Given the description of an element on the screen output the (x, y) to click on. 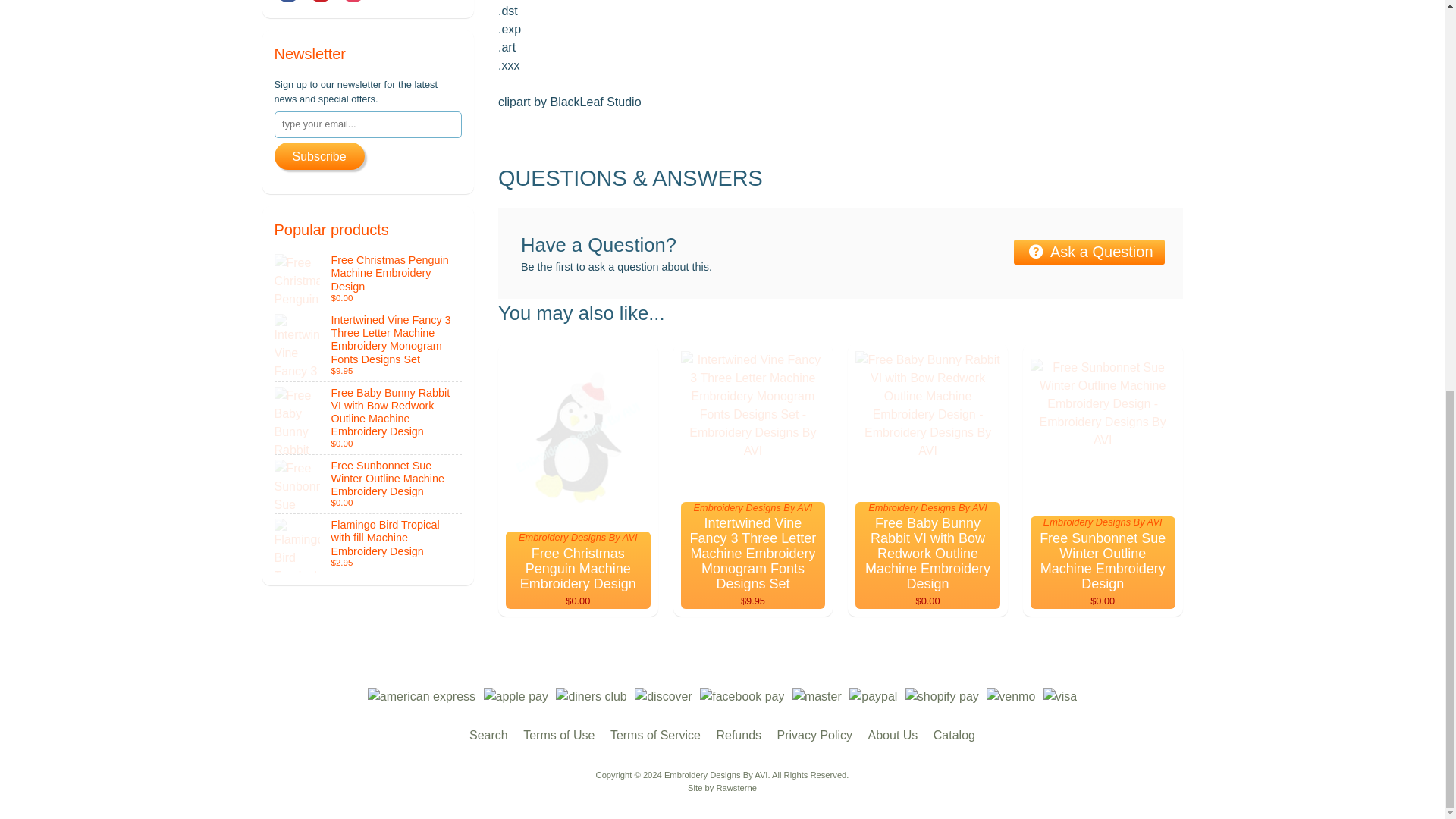
Facebook (288, 1)
Flamingo Bird Tropical with fill Machine Embroidery Design (369, 543)
Pinterest (320, 1)
Instagram (352, 1)
Free Christmas Penguin Machine Embroidery Design (369, 278)
Free Sunbonnet Sue Winter Outline Machine Embroidery Design (369, 484)
